Given the description of an element on the screen output the (x, y) to click on. 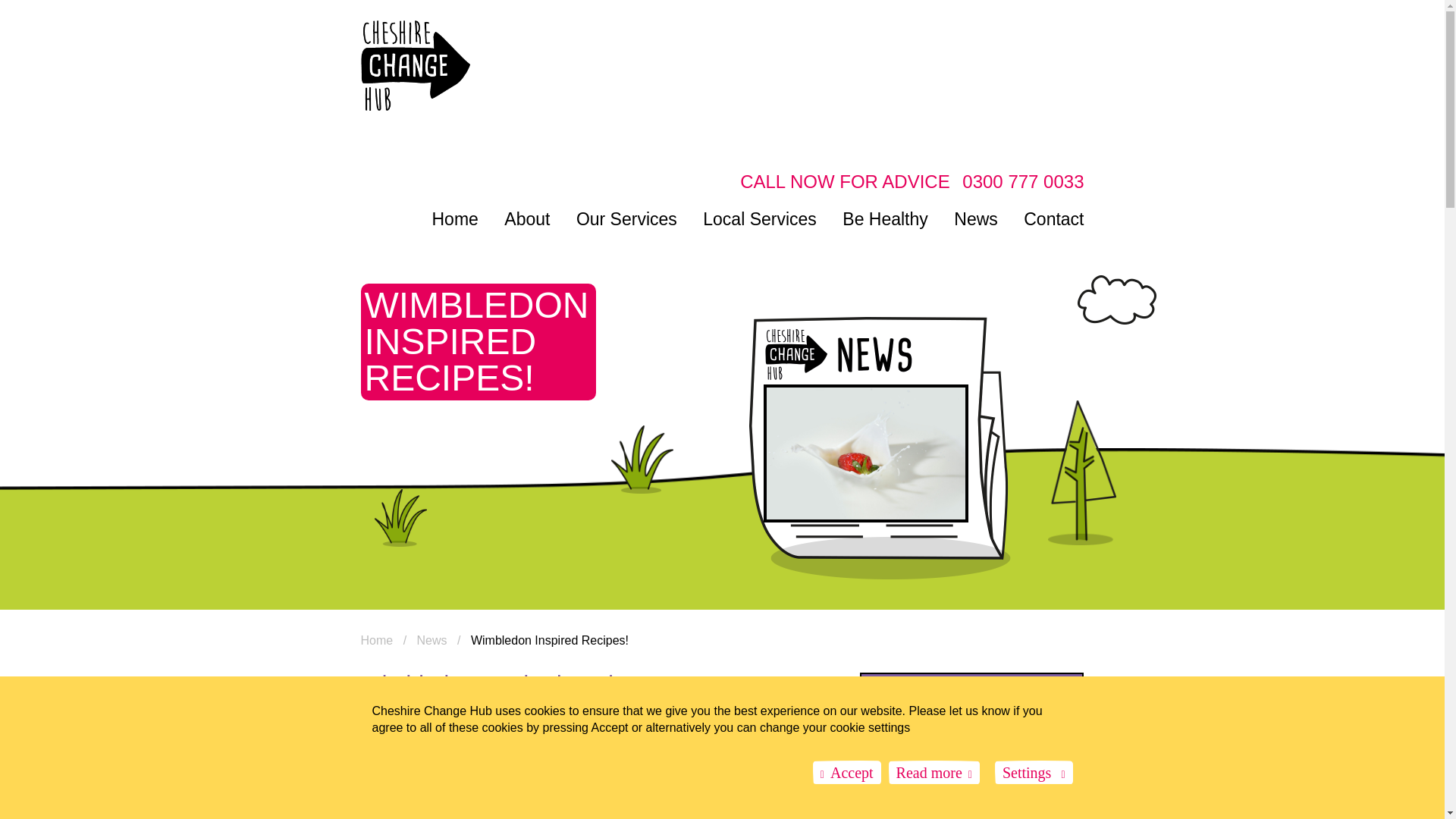
About (526, 218)
0300 777 0033 (1022, 181)
News (431, 640)
Back to latest news (972, 727)
Be Healthy (885, 218)
News (975, 218)
Home (377, 640)
Our Services (626, 218)
Home (455, 218)
Contact (1053, 218)
Local Services (759, 218)
